Given the description of an element on the screen output the (x, y) to click on. 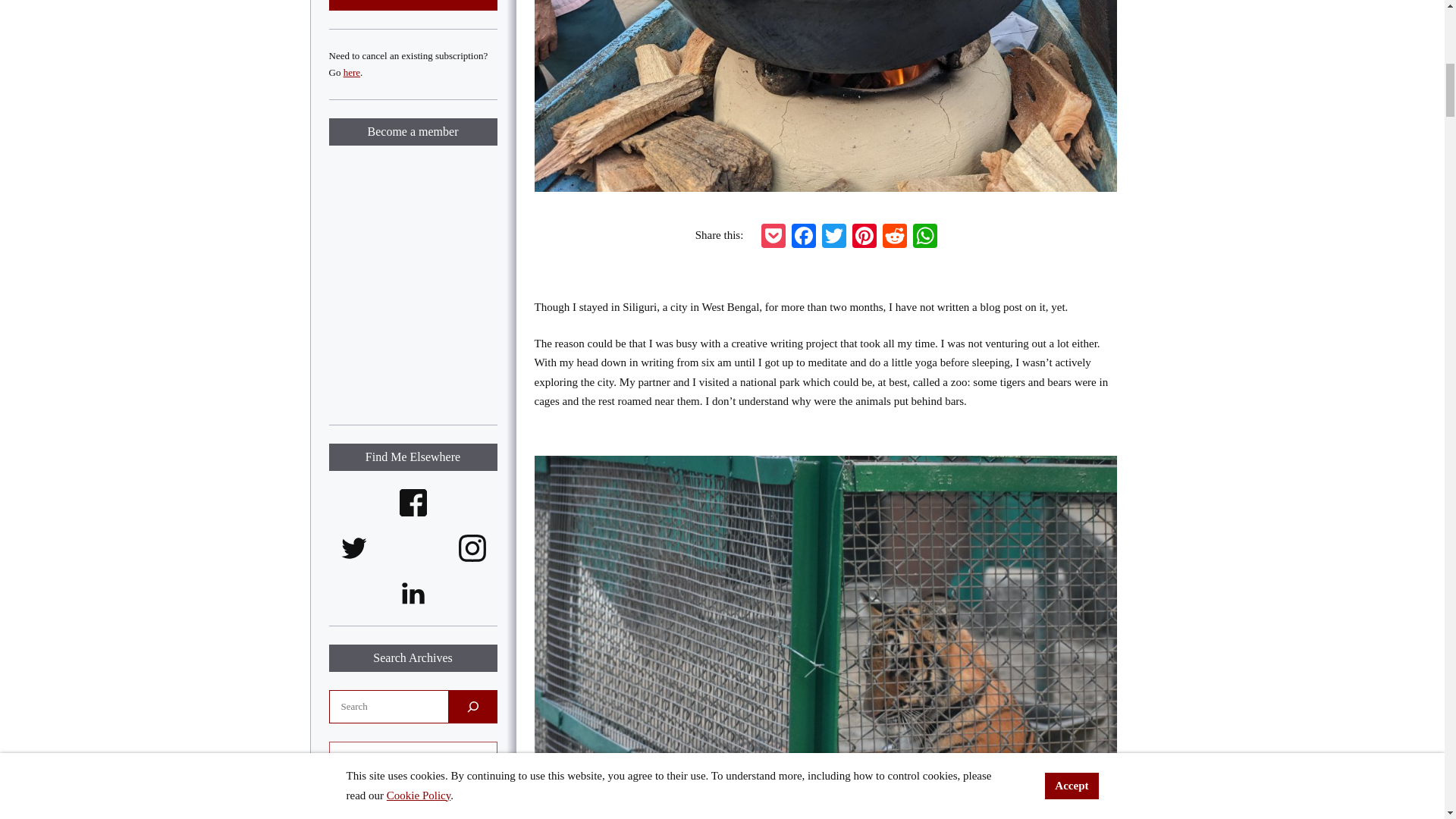
Twitter (833, 235)
Facebook (803, 235)
WhatsApp (924, 235)
Pocket (773, 235)
Reddit (894, 235)
Pocket (773, 235)
Facebook (803, 235)
Reddit (894, 235)
Pinterest (863, 235)
Pinterest (863, 235)
Twitter (833, 235)
WhatsApp (924, 235)
